Given the description of an element on the screen output the (x, y) to click on. 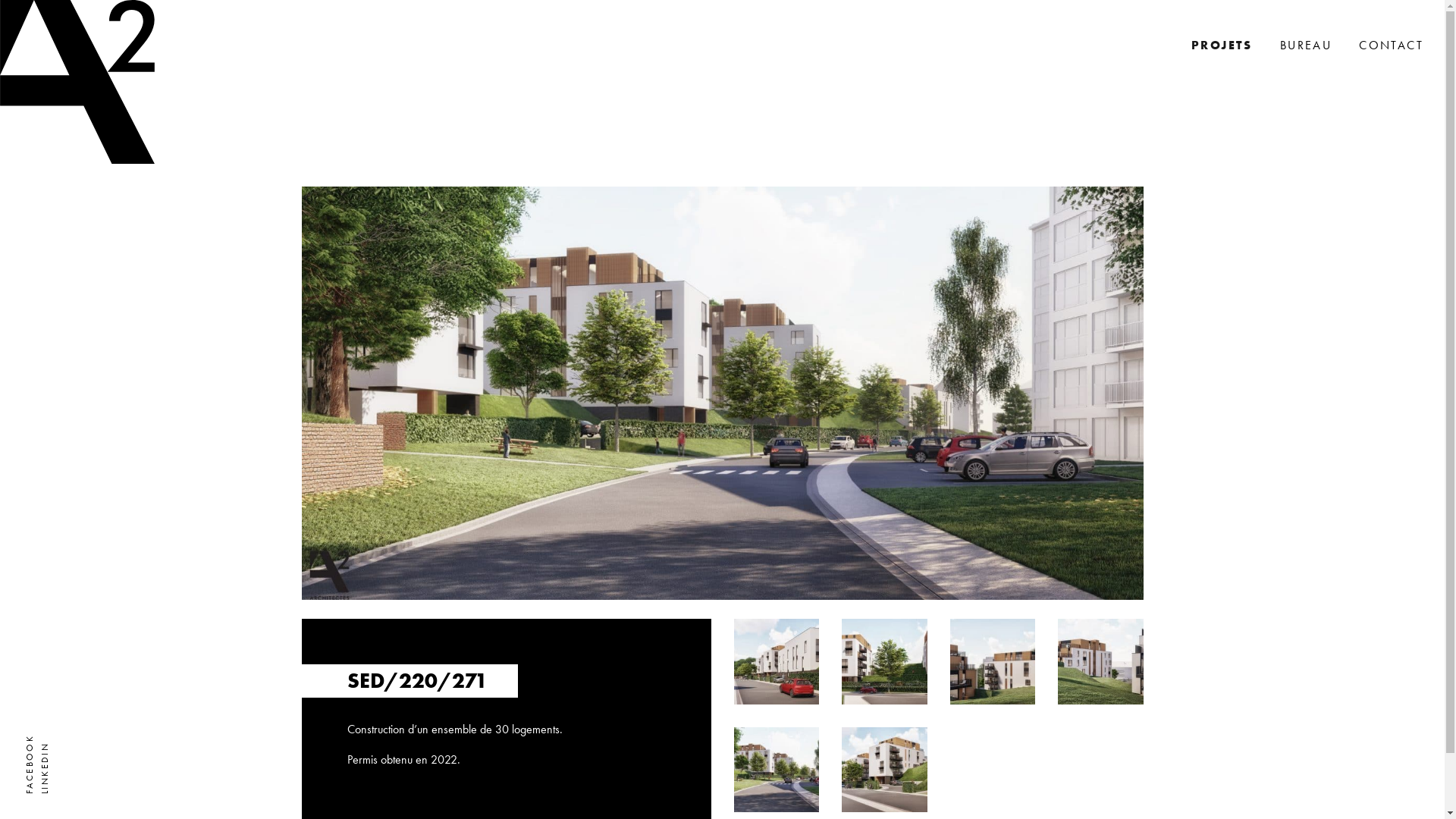
FACEBOOK Element type: text (54, 739)
BUREAU Element type: text (1305, 45)
CONTACT Element type: text (1390, 45)
LINKEDIN Element type: text (65, 746)
PROJETS Element type: text (1221, 45)
A2 Architectes Element type: text (77, 81)
